Given the description of an element on the screen output the (x, y) to click on. 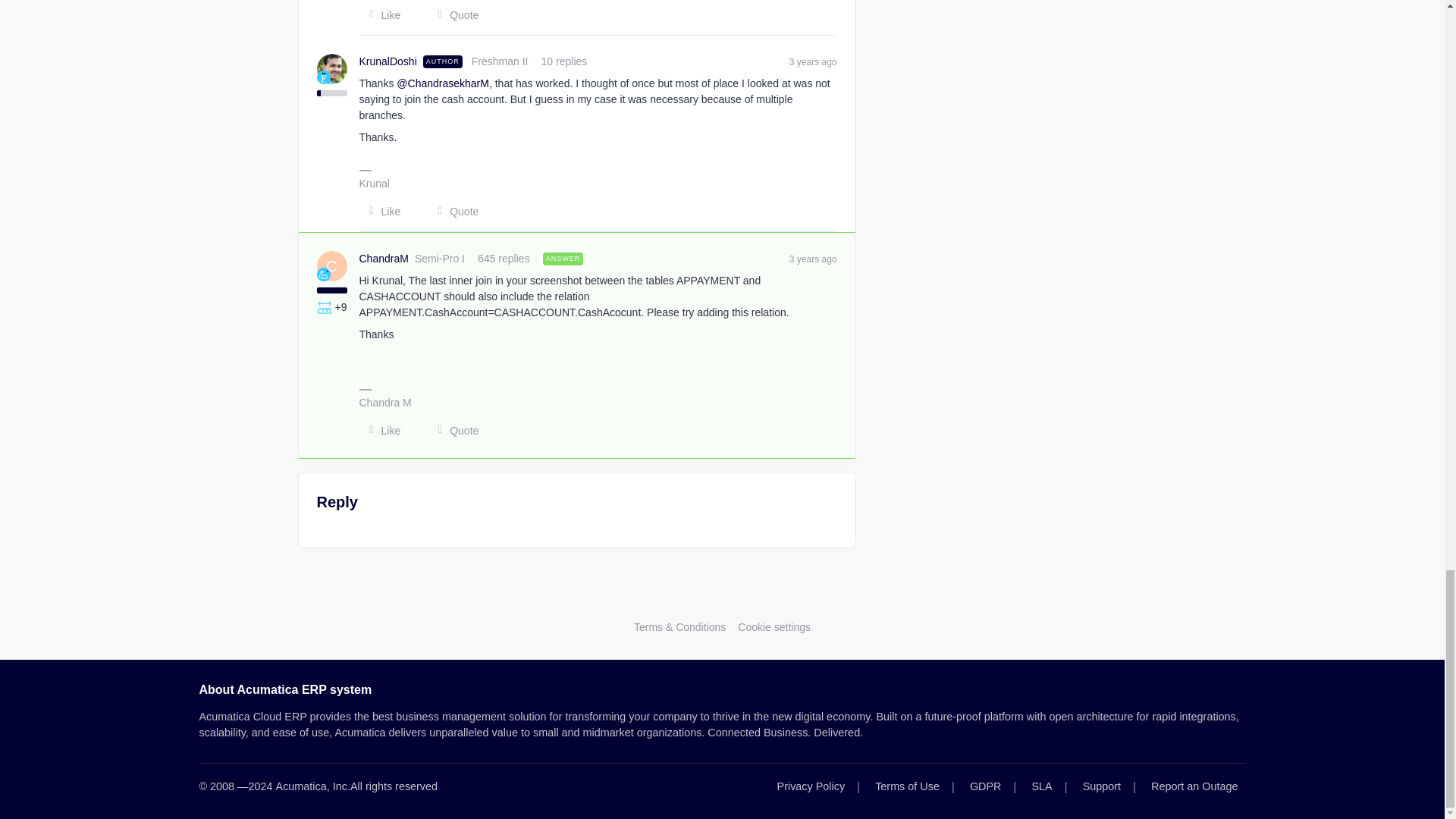
Visit Gainsight.com (722, 595)
Semi-Pro I (323, 274)
ChandraM (384, 258)
KrunalDoshi (387, 61)
Freshman II (323, 77)
Customizations expert (324, 306)
